Given the description of an element on the screen output the (x, y) to click on. 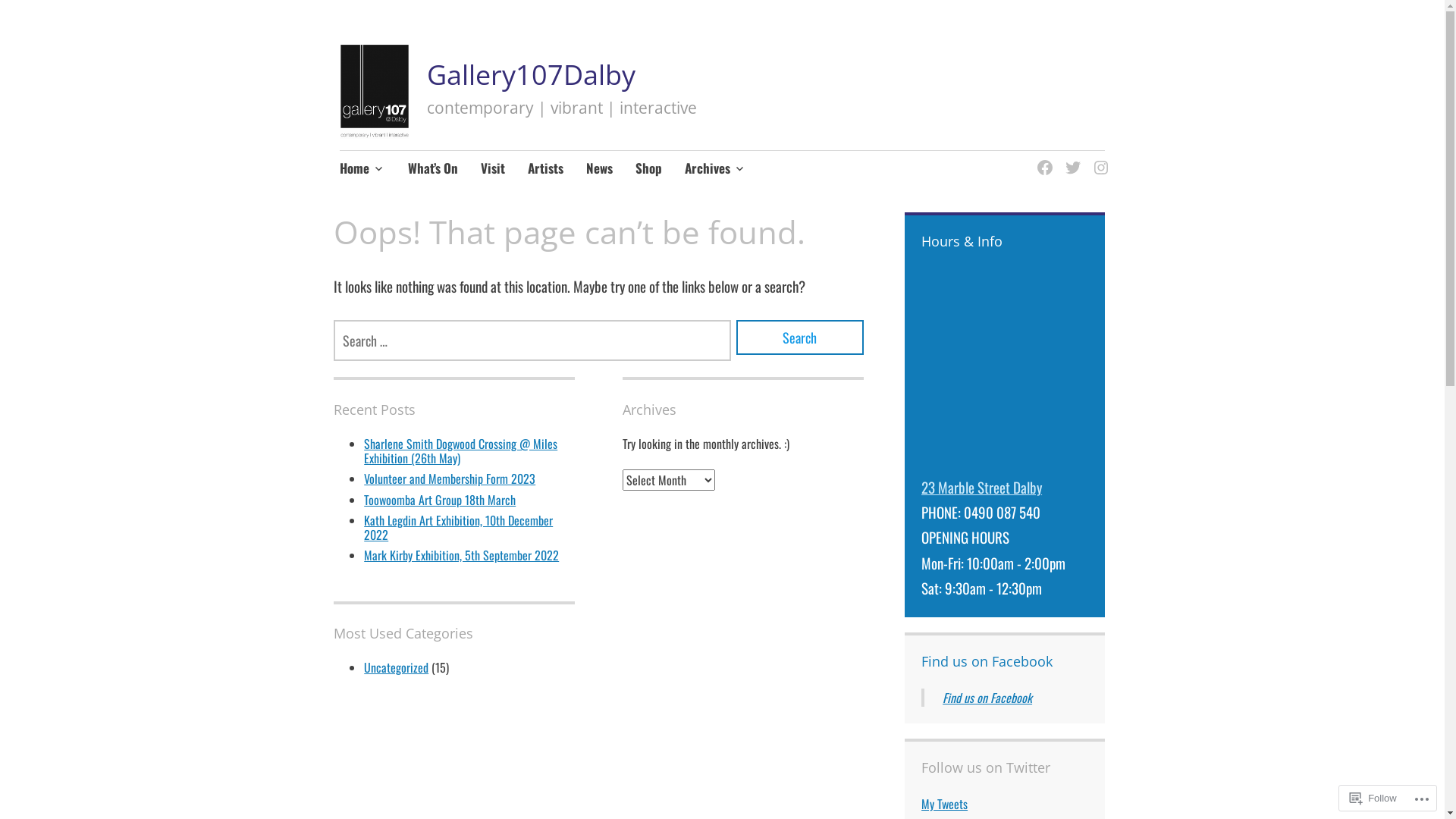
Find us on Facebook Element type: text (987, 697)
Toowoomba Art Group 18th March Element type: text (439, 499)
Visit Element type: text (492, 168)
Home Element type: text (362, 168)
Volunteer and Membership Form 2023 Element type: text (449, 478)
Search Element type: text (799, 337)
Archives Element type: text (715, 168)
Google Map Embed Element type: hover (1004, 368)
Follow Element type: text (1372, 797)
Shop Element type: text (648, 168)
News Element type: text (599, 168)
Kath Legdin Art Exhibition, 10th December 2022 Element type: text (458, 527)
My Tweets Element type: text (944, 803)
23 Marble Street Dalby Element type: text (981, 486)
Gallery107Dalby Element type: text (530, 74)
Artists Element type: text (545, 168)
Uncategorized Element type: text (396, 667)
Mark Kirby Exhibition, 5th September 2022 Element type: text (461, 555)
Find us on Facebook Element type: text (986, 661)
